Given the description of an element on the screen output the (x, y) to click on. 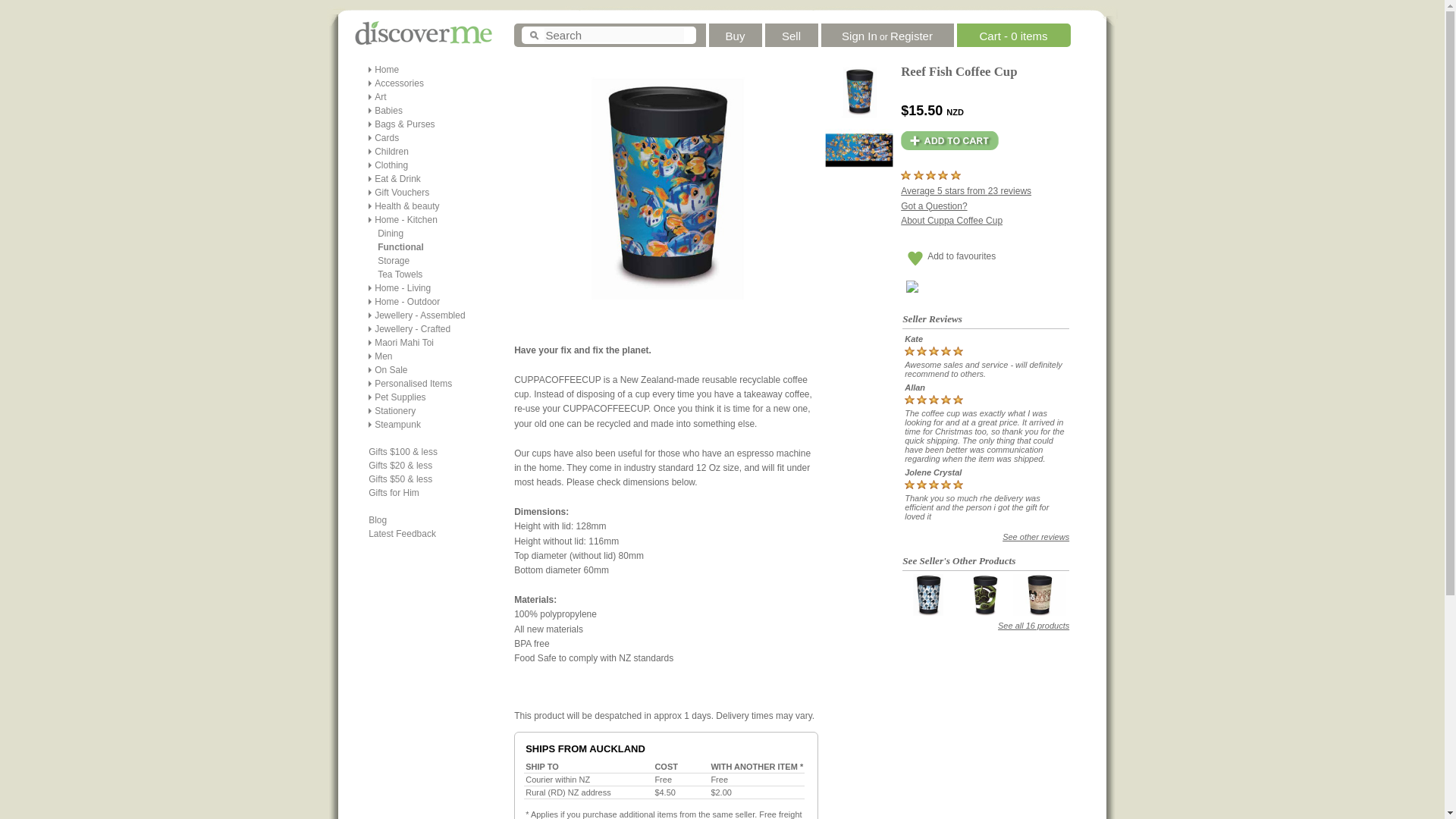
Cards (386, 137)
Cart - 0 items (1012, 31)
Clothing (390, 164)
Gift Vouchers (401, 192)
Art (379, 96)
Home (386, 69)
Babies (388, 110)
Sell (790, 31)
Children (391, 151)
Register (911, 31)
Sign In (859, 31)
Buy (735, 31)
Accessories (398, 82)
